Given the description of an element on the screen output the (x, y) to click on. 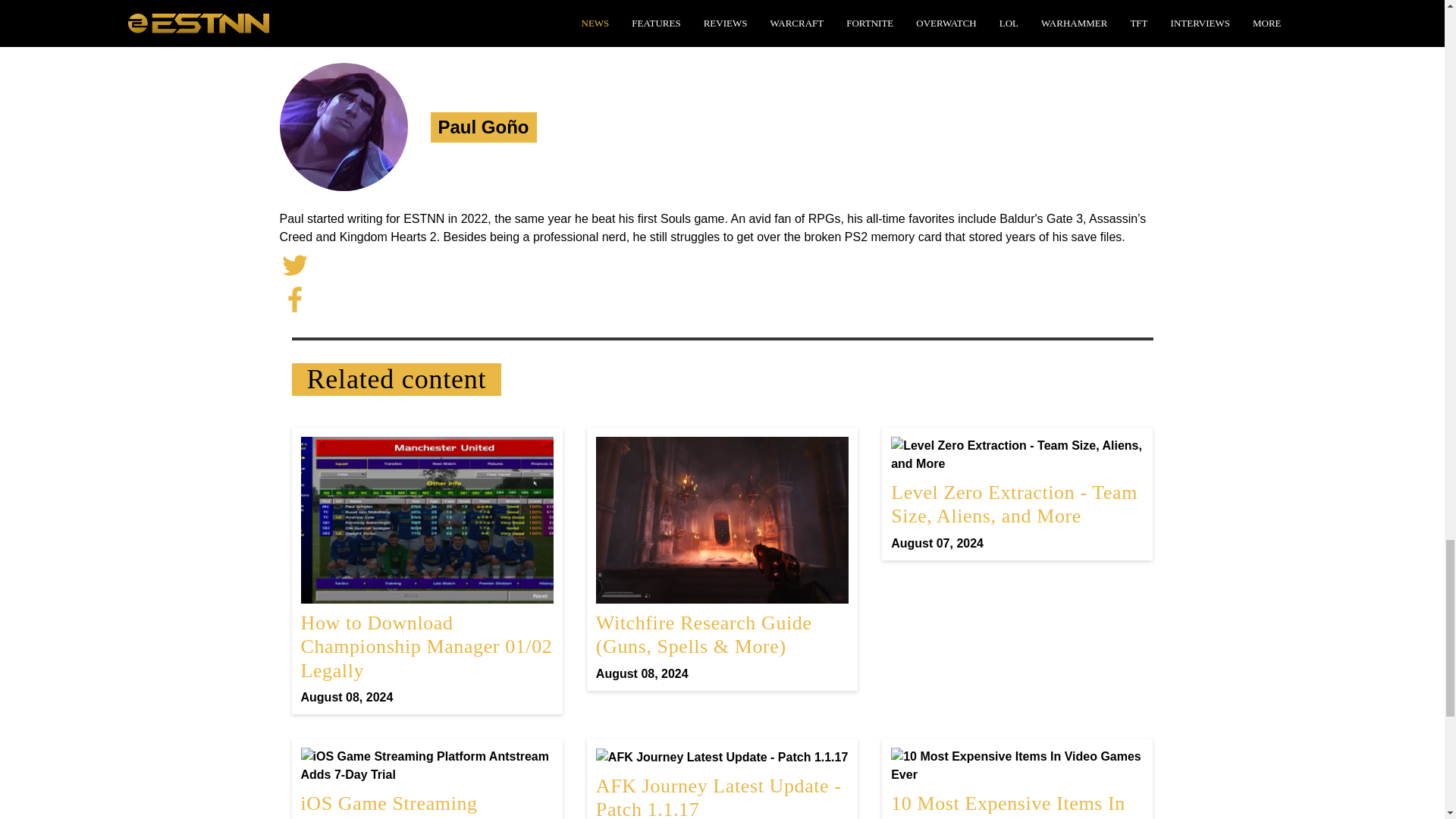
iOS Game Streaming Platform Antstream Adds 7-Day Trial (426, 783)
10 Most Expensive Items In Video Games Ever (721, 783)
Level Zero Extraction - Team Size, Aliens, and More (1016, 783)
AFK Journey Latest Update - Patch 1.1.17 (1016, 493)
ESTNN (721, 783)
